Given the description of an element on the screen output the (x, y) to click on. 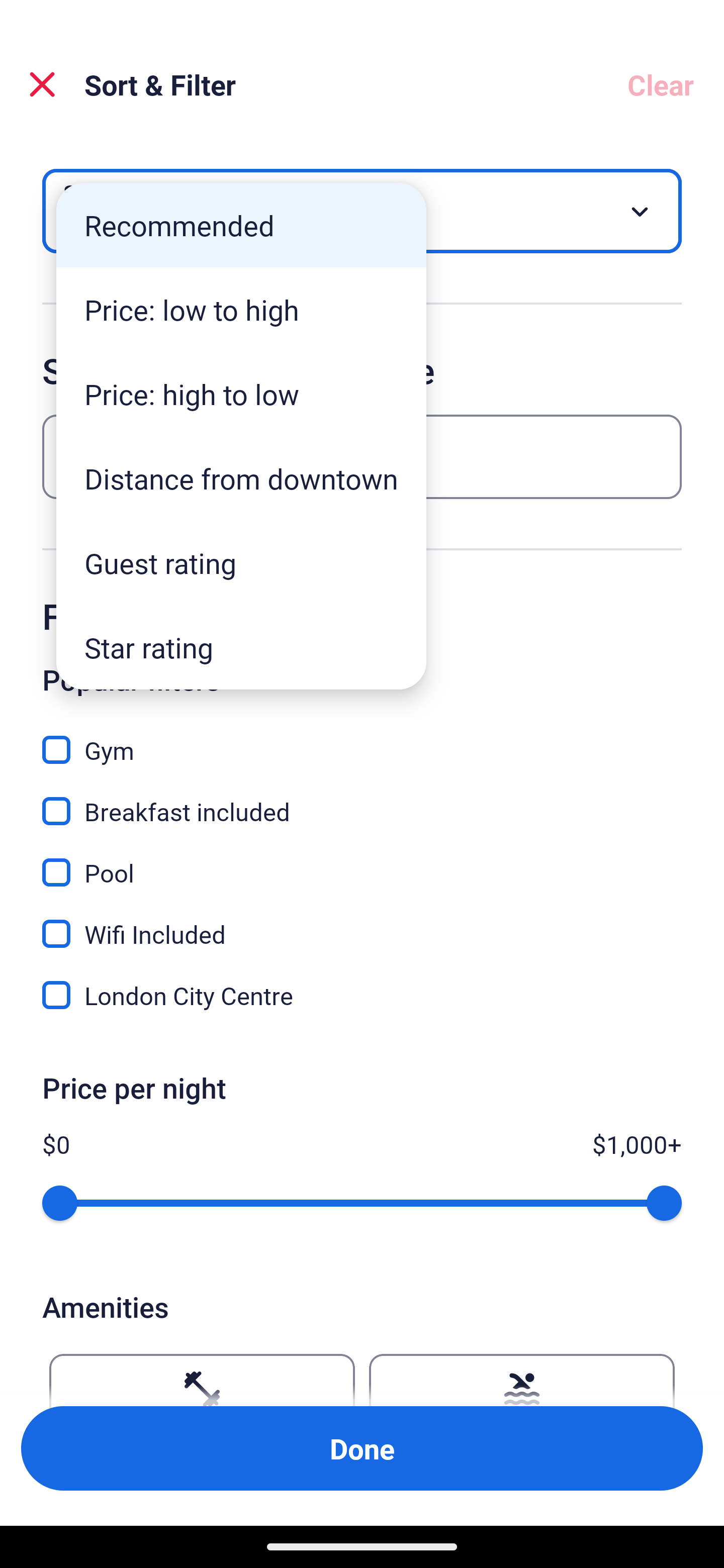
Price: low to high (241, 309)
Price: high to low (241, 393)
Distance from downtown (241, 477)
Guest rating (241, 562)
Star rating (241, 647)
